Given the description of an element on the screen output the (x, y) to click on. 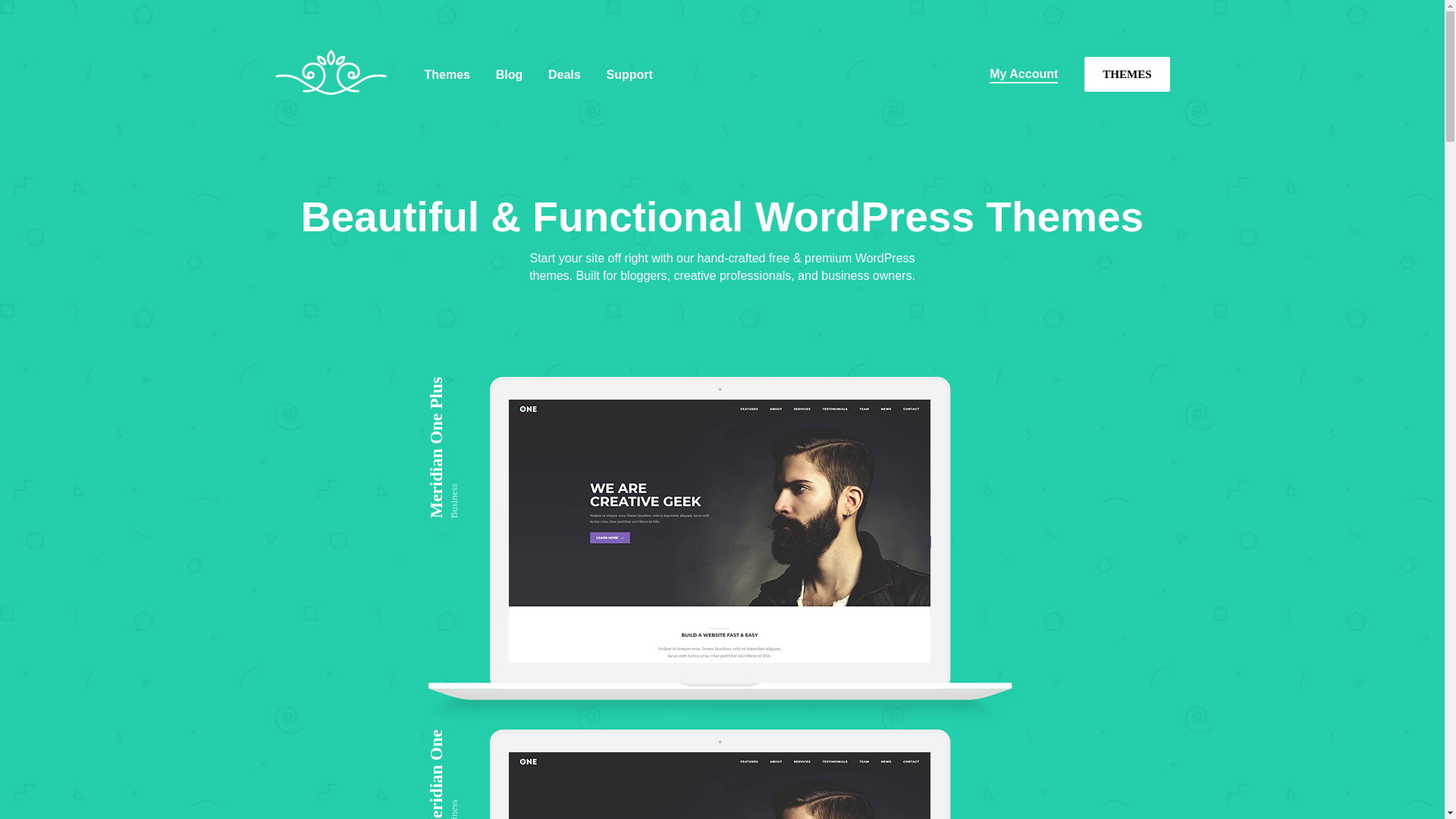
My Account (1024, 74)
MERIDIANTHEMES (336, 117)
Deals (564, 74)
Themes (447, 74)
Blog (509, 74)
Support (628, 74)
THEMES (1126, 73)
